Given the description of an element on the screen output the (x, y) to click on. 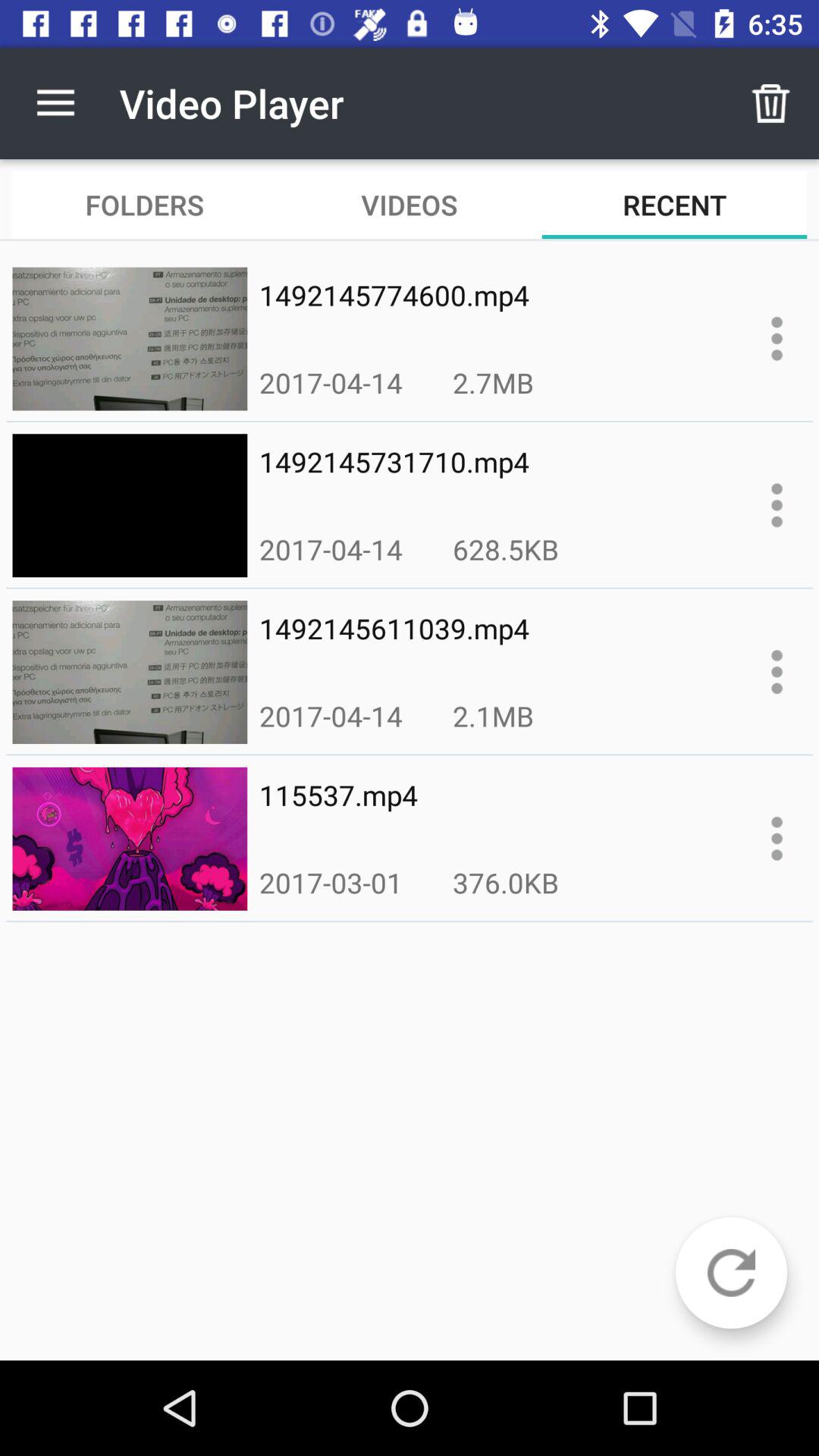
launch item below the 115537.mp4 icon (330, 882)
